Given the description of an element on the screen output the (x, y) to click on. 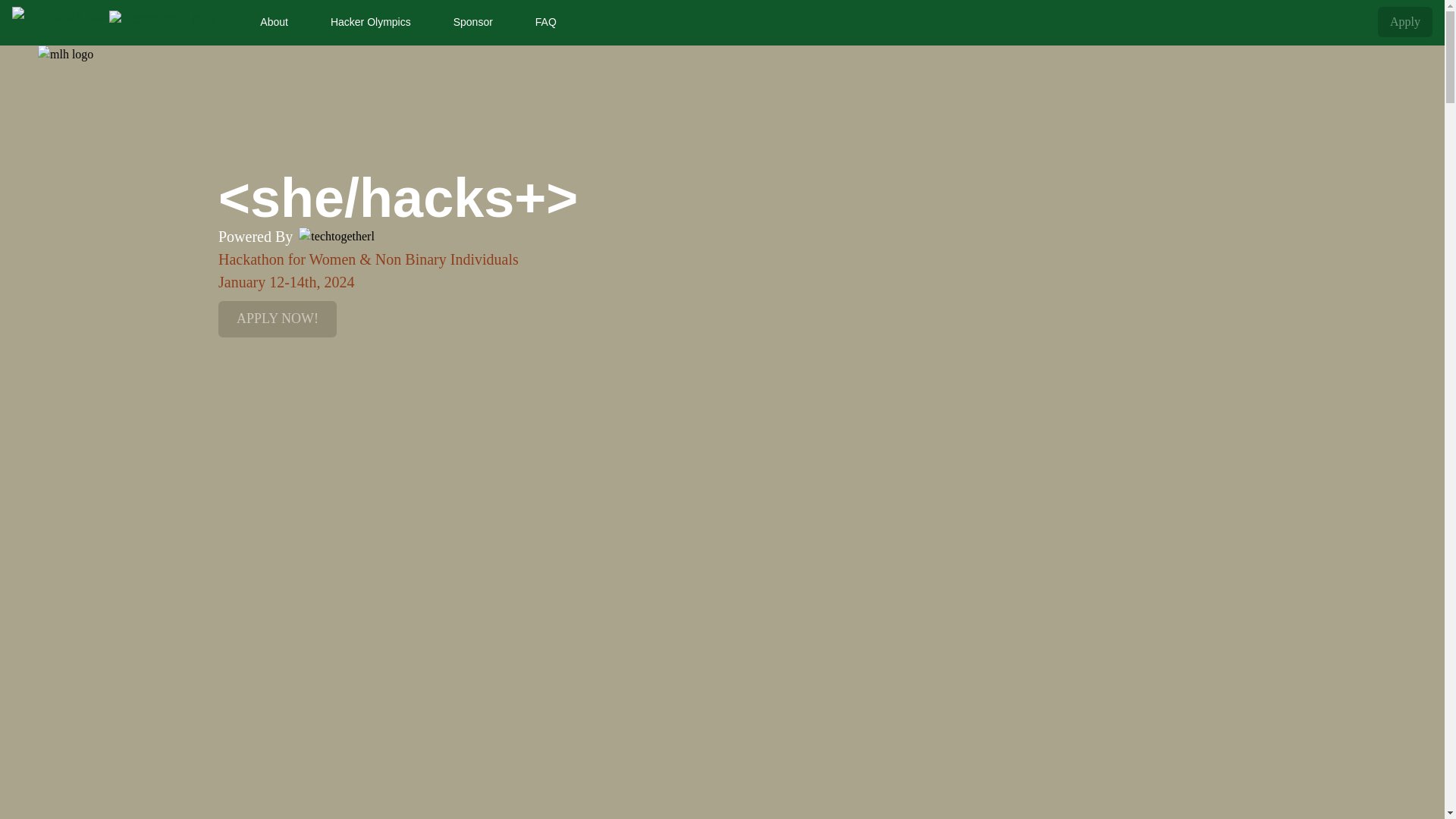
FAQ (545, 21)
Apply (1404, 21)
About (273, 21)
APPLY NOW! (277, 318)
Sponsor (473, 21)
Hacker Olympics (370, 21)
APPLY NOW! (277, 319)
